Given the description of an element on the screen output the (x, y) to click on. 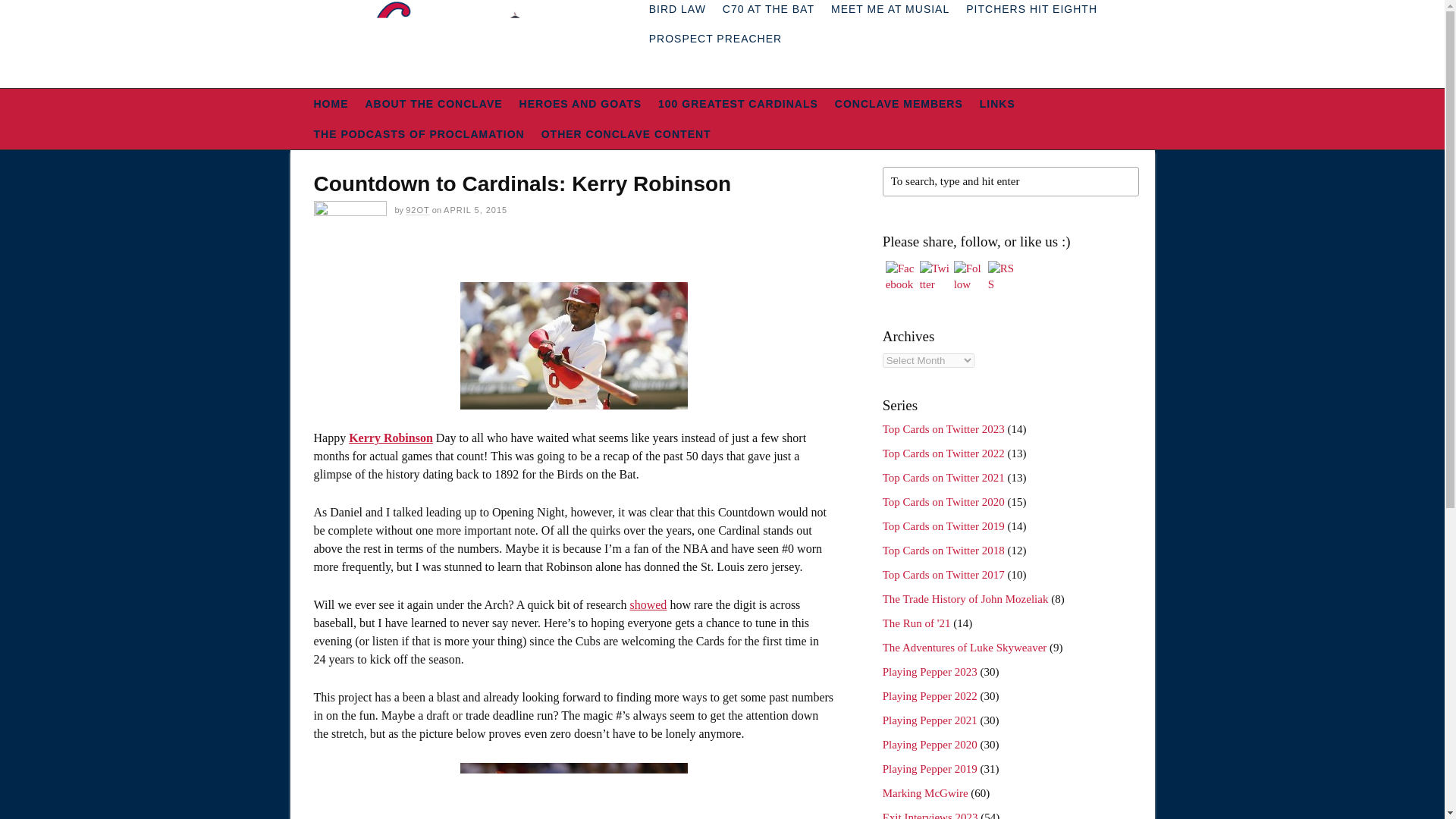
OTHER CONCLAVE CONTENT (625, 133)
MEET ME AT MUSIAL (890, 12)
92OT (417, 210)
BIRD LAW (677, 12)
RSS (1002, 276)
Follow by Email (968, 276)
Kerry Robinson (390, 437)
HOME (330, 103)
2015-04-05 (475, 209)
PITCHERS HIT EIGHTH (1031, 12)
100 GREATEST CARDINALS (738, 103)
HEROES AND GOATS (580, 103)
Facebook (900, 276)
ABOUT THE CONCLAVE (433, 103)
THE PODCASTS OF PROCLAMATION (418, 133)
